Given the description of an element on the screen output the (x, y) to click on. 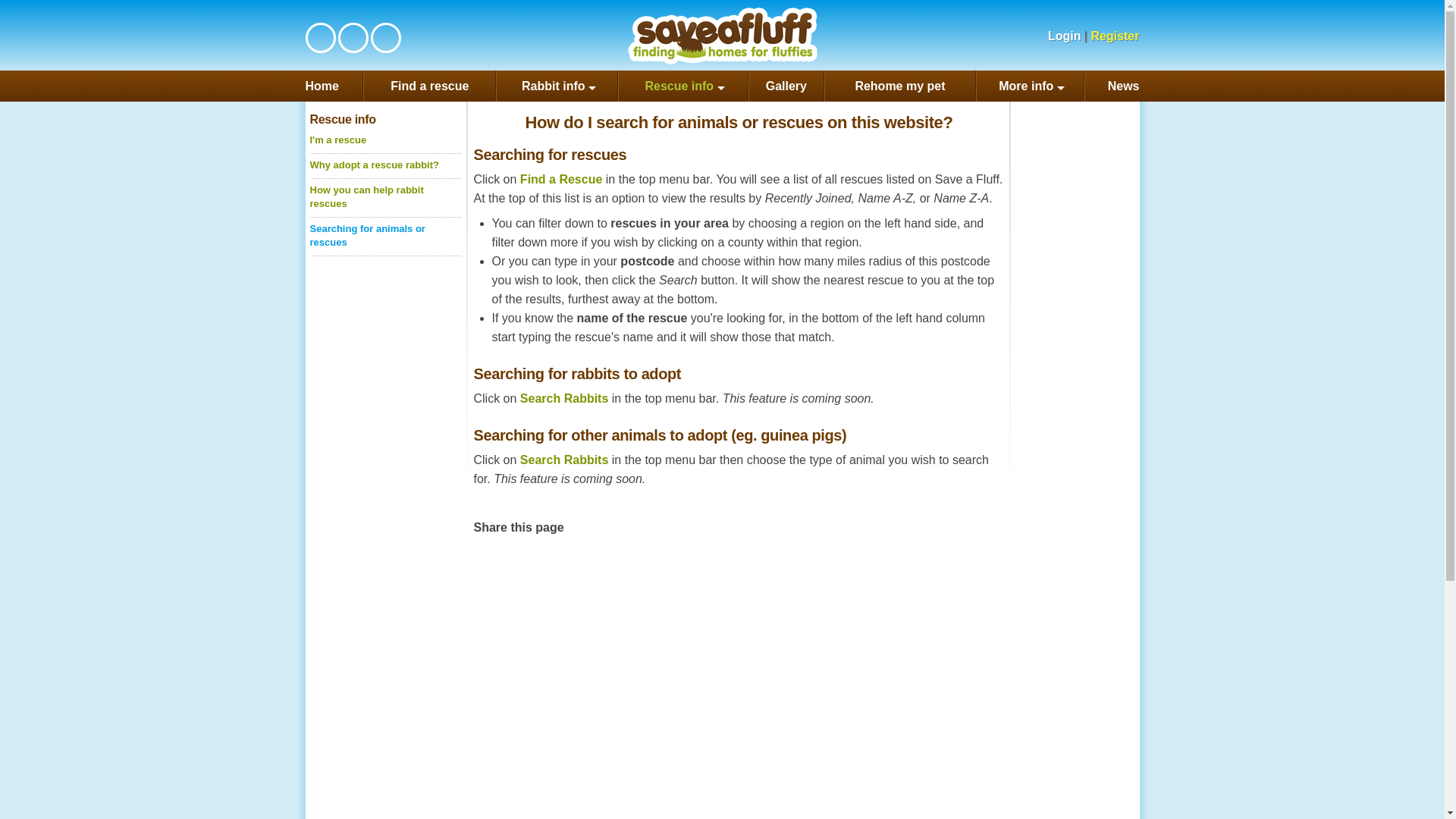
Login (1057, 35)
Find a rescue (429, 85)
Rehome my pet (900, 85)
Rabbit info (556, 85)
Find a rabbit (563, 398)
Find a rabbit (563, 459)
Rescue info (682, 85)
More info (1029, 85)
Register (1114, 35)
Follow Saveafluff on Facebook (320, 37)
Gallery (786, 85)
Follow Saveafluff on Twitter (352, 37)
Follow Saveafluff on Pinterest (385, 37)
Search for a rescue (560, 178)
Home (333, 85)
